Given the description of an element on the screen output the (x, y) to click on. 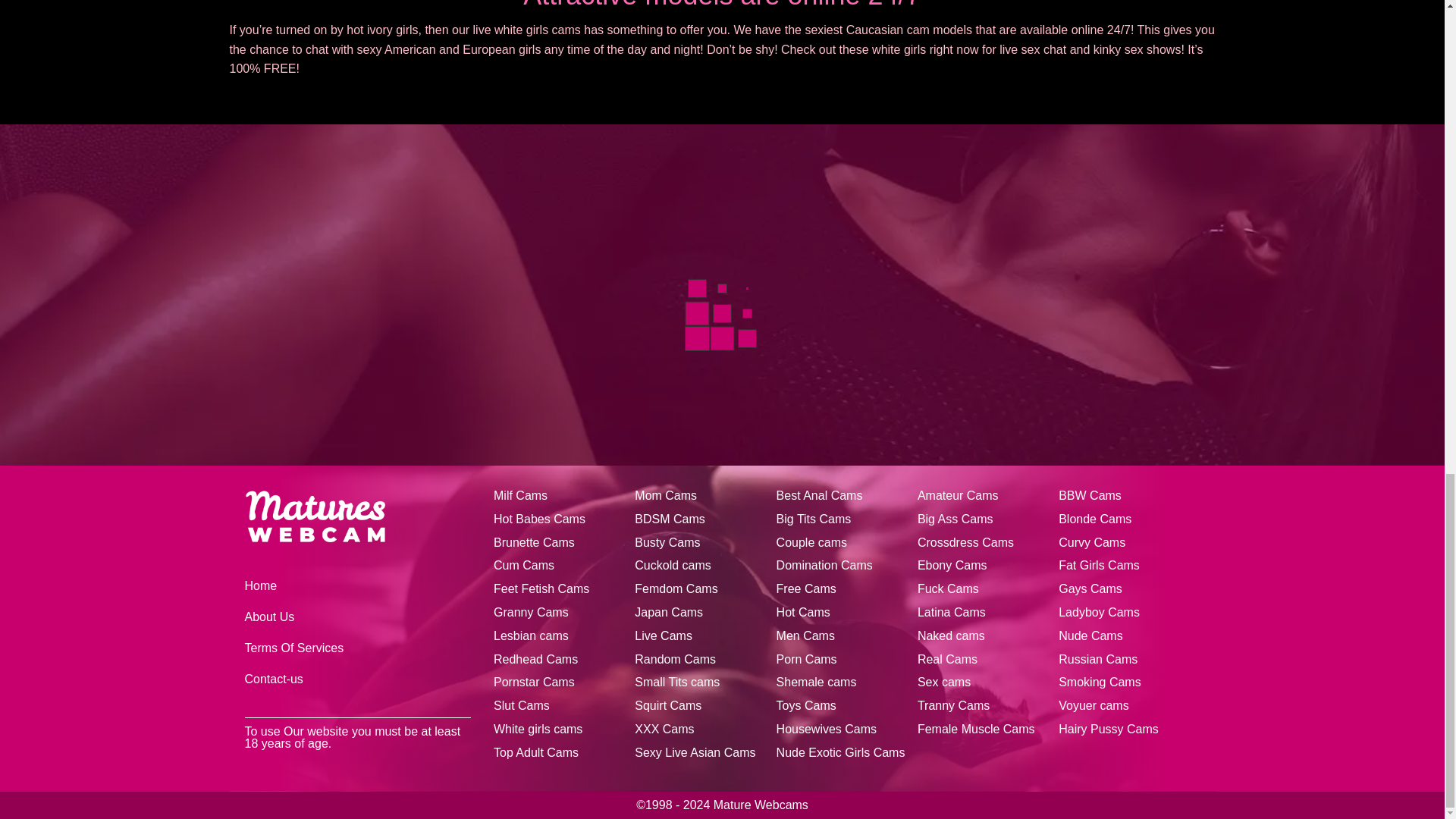
BDSM Cams (669, 519)
Busty Cams (667, 543)
Contact-us (273, 678)
About Us (269, 616)
Blonde Cams (1094, 519)
Milf Cams (520, 496)
Terms Of Services (293, 647)
Hot Babes Cams (539, 519)
Mom Cams (665, 496)
Home (260, 585)
Best Anal Cams (819, 496)
Brunette Cams (534, 543)
Amateur Cams (957, 496)
BBW Cams (1089, 496)
Big Ass Cams (954, 519)
